Given the description of an element on the screen output the (x, y) to click on. 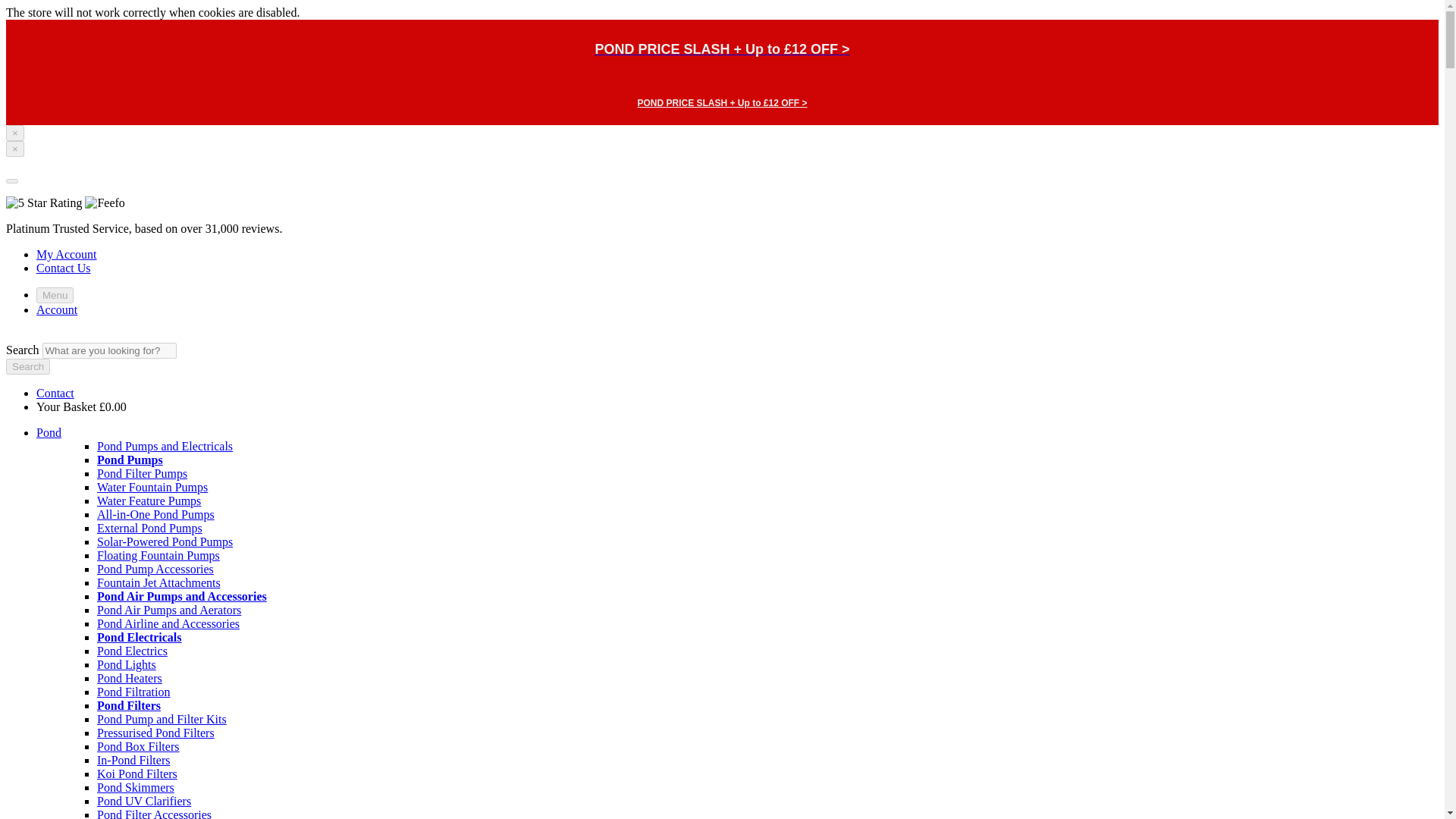
My Account (66, 254)
Pond Pump and Filter Kits (162, 718)
Pond Box Filters (138, 746)
Water Feature Pumps (148, 500)
Pond Airline and Accessories (168, 623)
Floating Fountain Pumps (158, 554)
Water Fountain Pumps (152, 486)
Pond Pumps (130, 459)
Pond Air Pumps and Accessories (181, 595)
Pond Lights (126, 664)
